Given the description of an element on the screen output the (x, y) to click on. 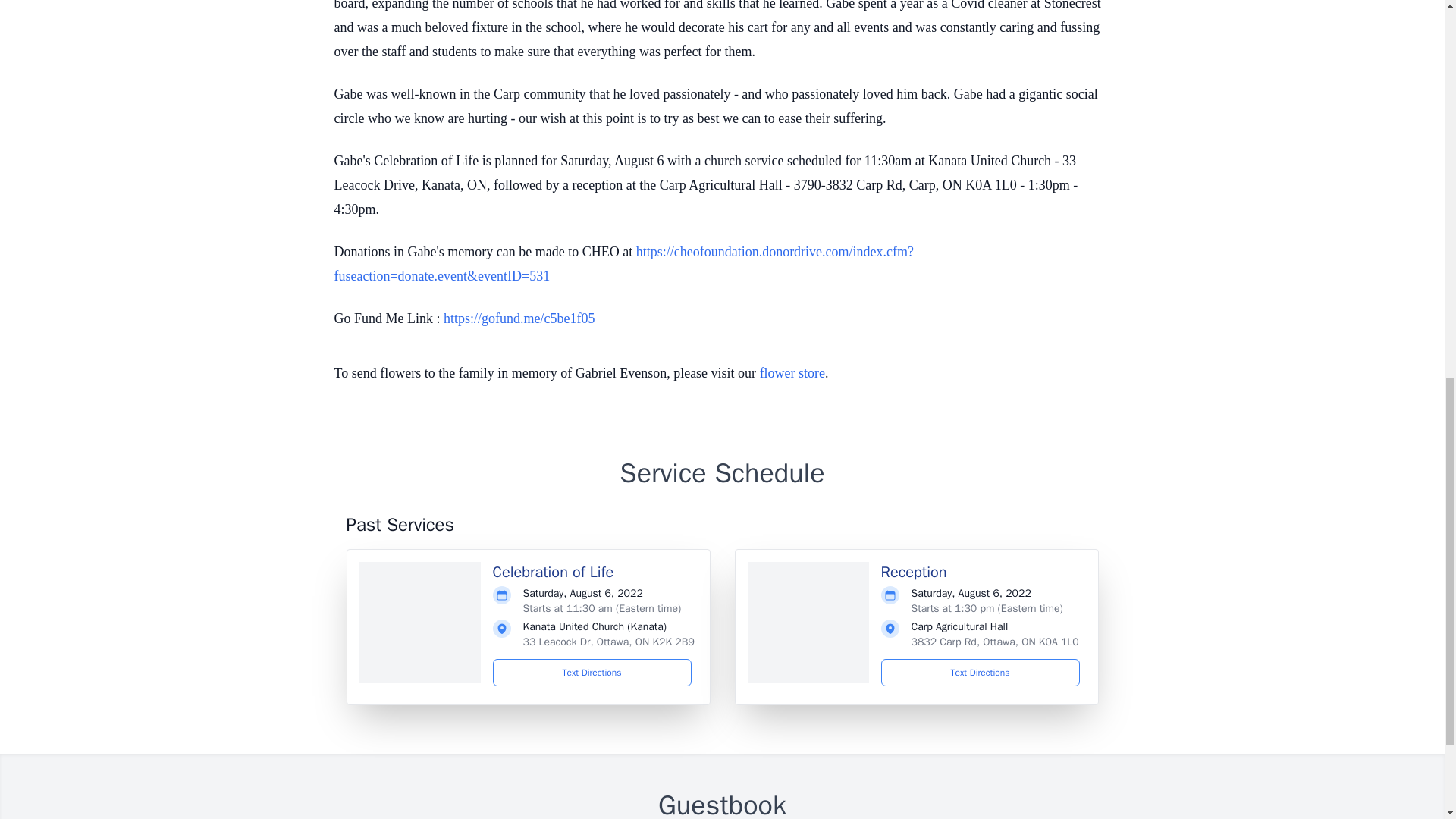
33 Leacock Dr, Ottawa, ON K2K 2B9 (608, 641)
Text Directions (592, 672)
Text Directions (980, 672)
flower store (792, 372)
3832 Carp Rd, Ottawa, ON K0A 1L0 (994, 641)
